Given the description of an element on the screen output the (x, y) to click on. 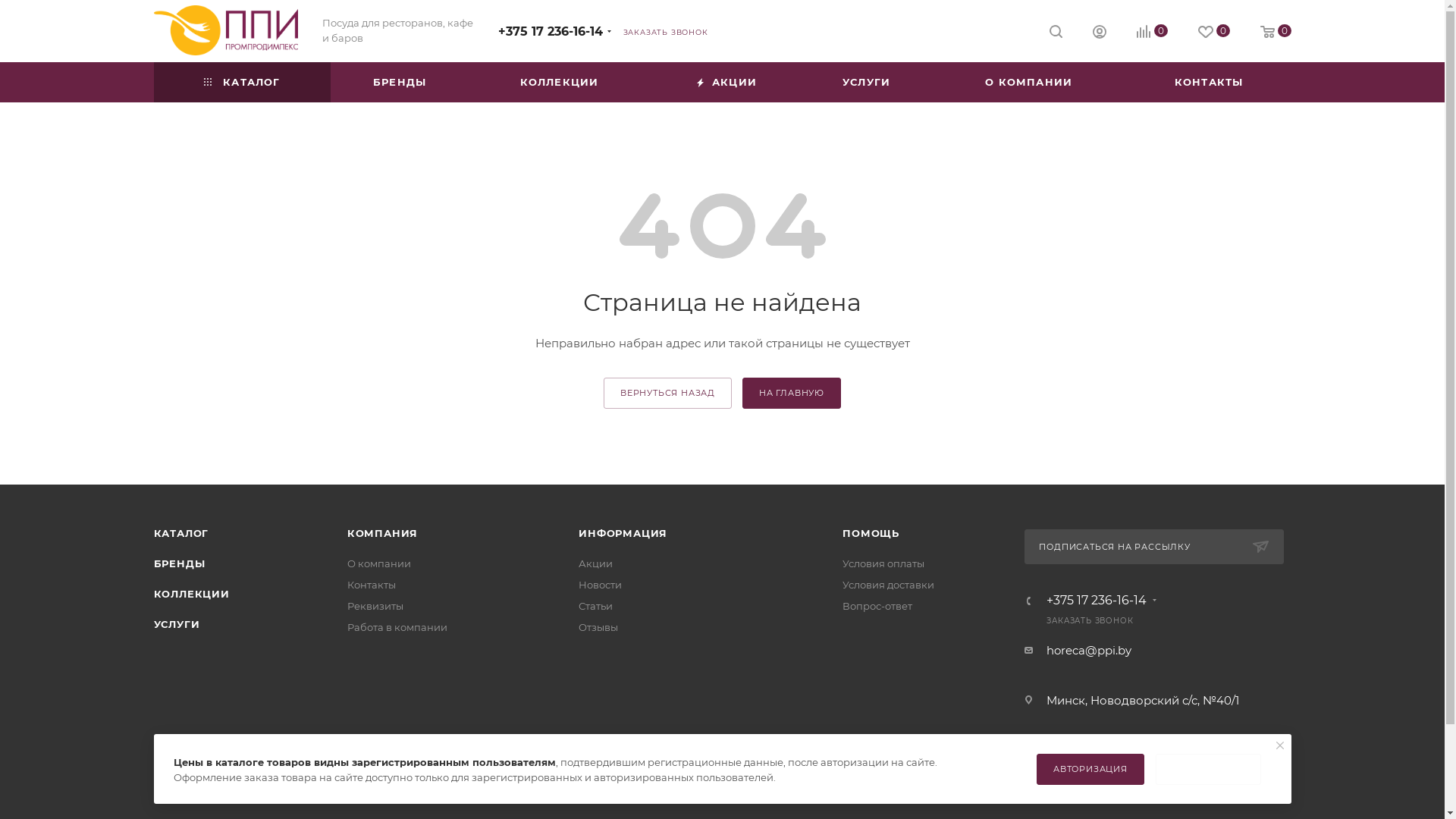
ppi.by Element type: hover (225, 30)
0 Element type: text (1275, 31)
YouTube Element type: text (760, 781)
Facebook Element type: text (683, 781)
+375 17 236-16-14 Element type: text (549, 31)
+375 17 236-16-14 Element type: text (1096, 600)
0 Element type: text (1151, 31)
Instagram Element type: text (722, 781)
0 Element type: text (1214, 31)
horeca@ppi.by Element type: text (1088, 650)
